Given the description of an element on the screen output the (x, y) to click on. 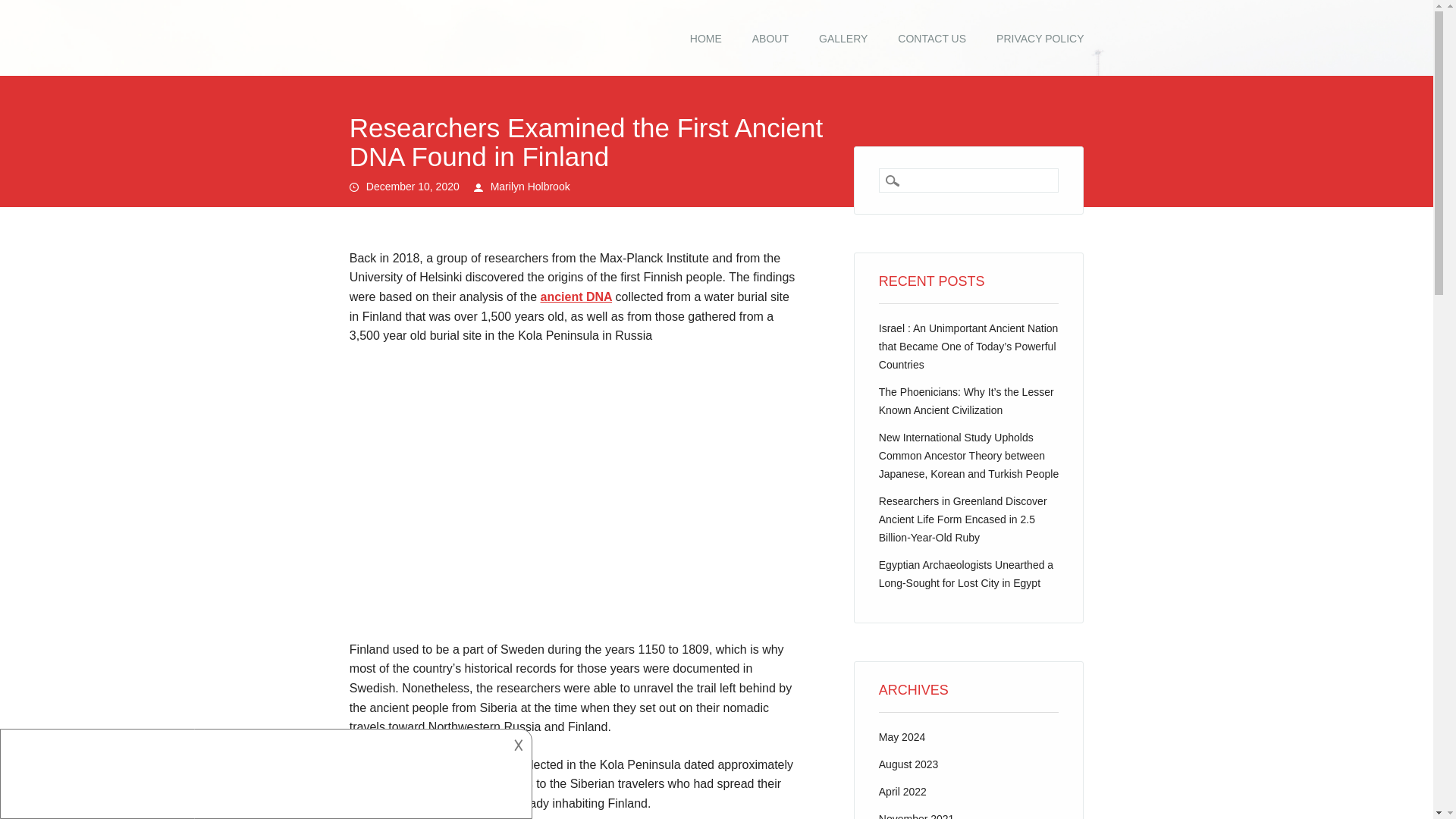
description (264, 771)
Search (22, 8)
PRIVACY POLICY (1040, 38)
May 2024 (901, 736)
Ancestral Journeys (406, 31)
11:18 pm (413, 186)
GALLERY (842, 38)
HOME (705, 38)
ancient DNA (575, 296)
ABOUT (769, 38)
View all posts by Marilyn Holbrook (530, 186)
December 10, 2020 (413, 186)
